Given the description of an element on the screen output the (x, y) to click on. 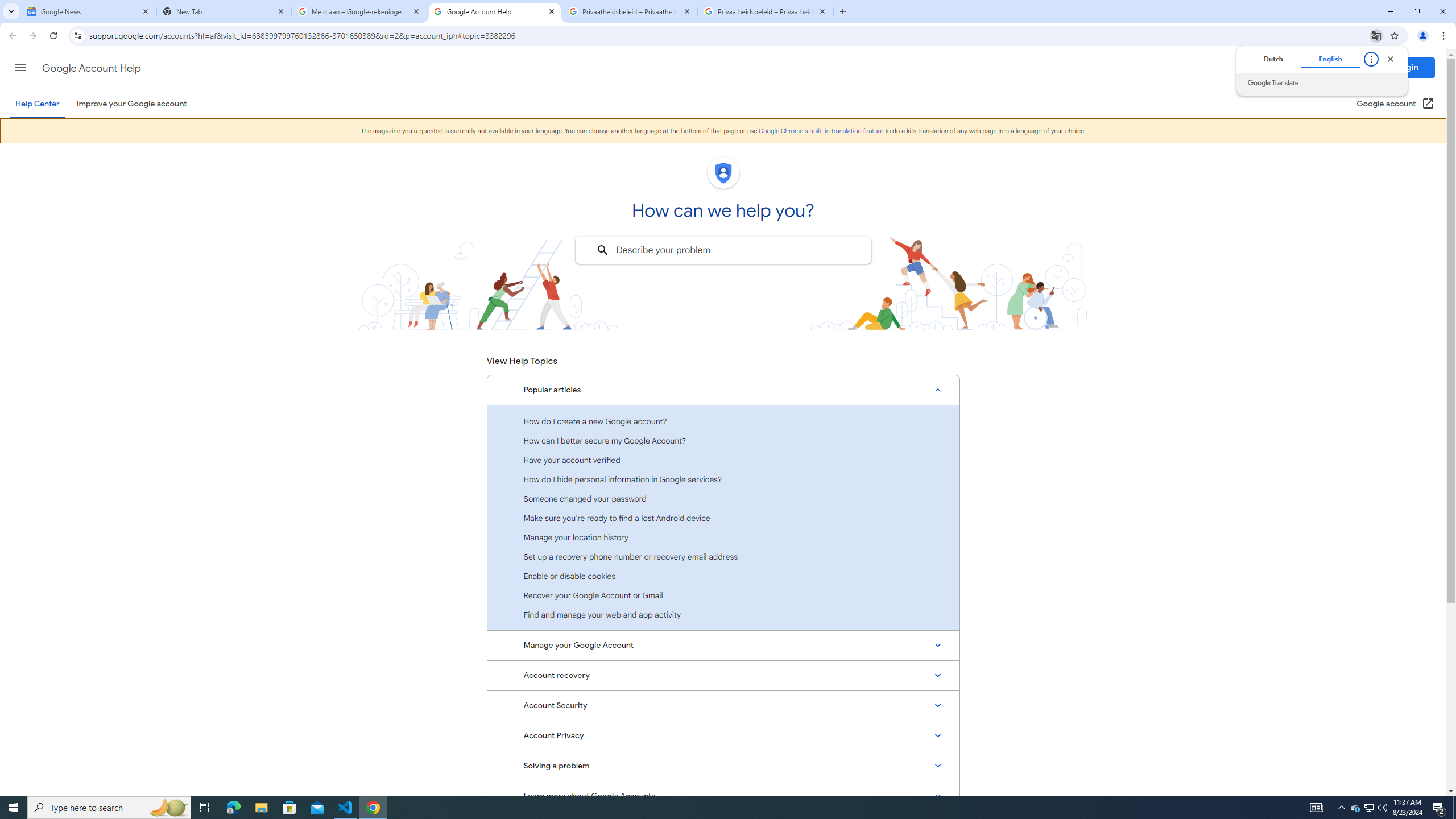
Google Account Help (494, 11)
Solving a problem (722, 765)
AutomationID: 4105 (1316, 807)
Search highlights icon opens search home window (167, 807)
Someone changed your password (722, 498)
Manage your Google Account (722, 645)
Microsoft Store (289, 807)
Google Account Help (91, 68)
User Promoted Notification Area (1368, 807)
